Given the description of an element on the screen output the (x, y) to click on. 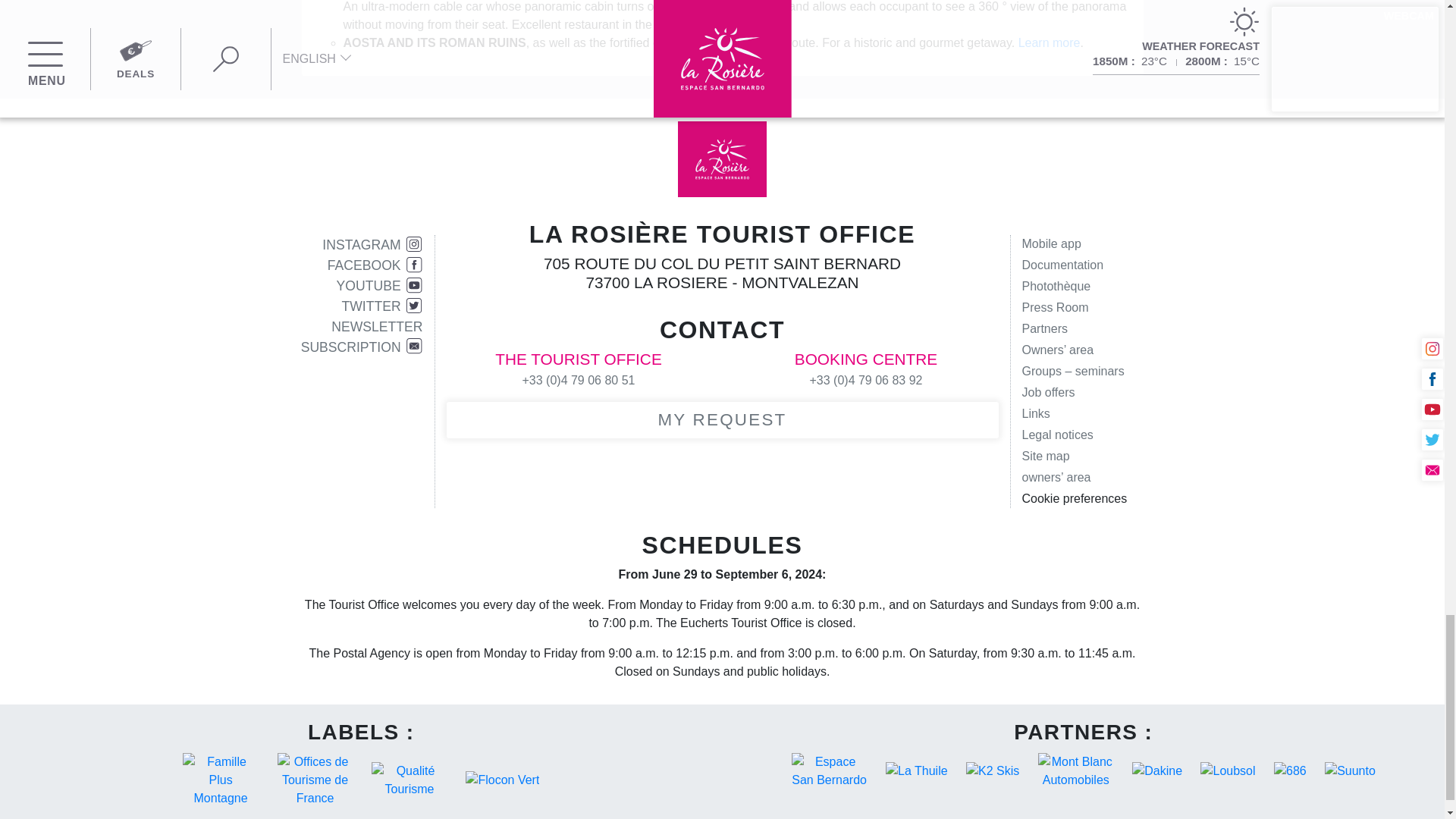
686 (1290, 770)
Famille Plus Montagne (220, 779)
La Thuile (916, 770)
Mont Blanc Automobiles (1075, 770)
Suunto (1350, 770)
K2 Skis (992, 770)
Dakine (1156, 770)
Espace San Bernardo (829, 770)
Flocon Vert (502, 779)
Loubsol (1227, 770)
Offices de Tourisme de France (315, 779)
